Given the description of an element on the screen output the (x, y) to click on. 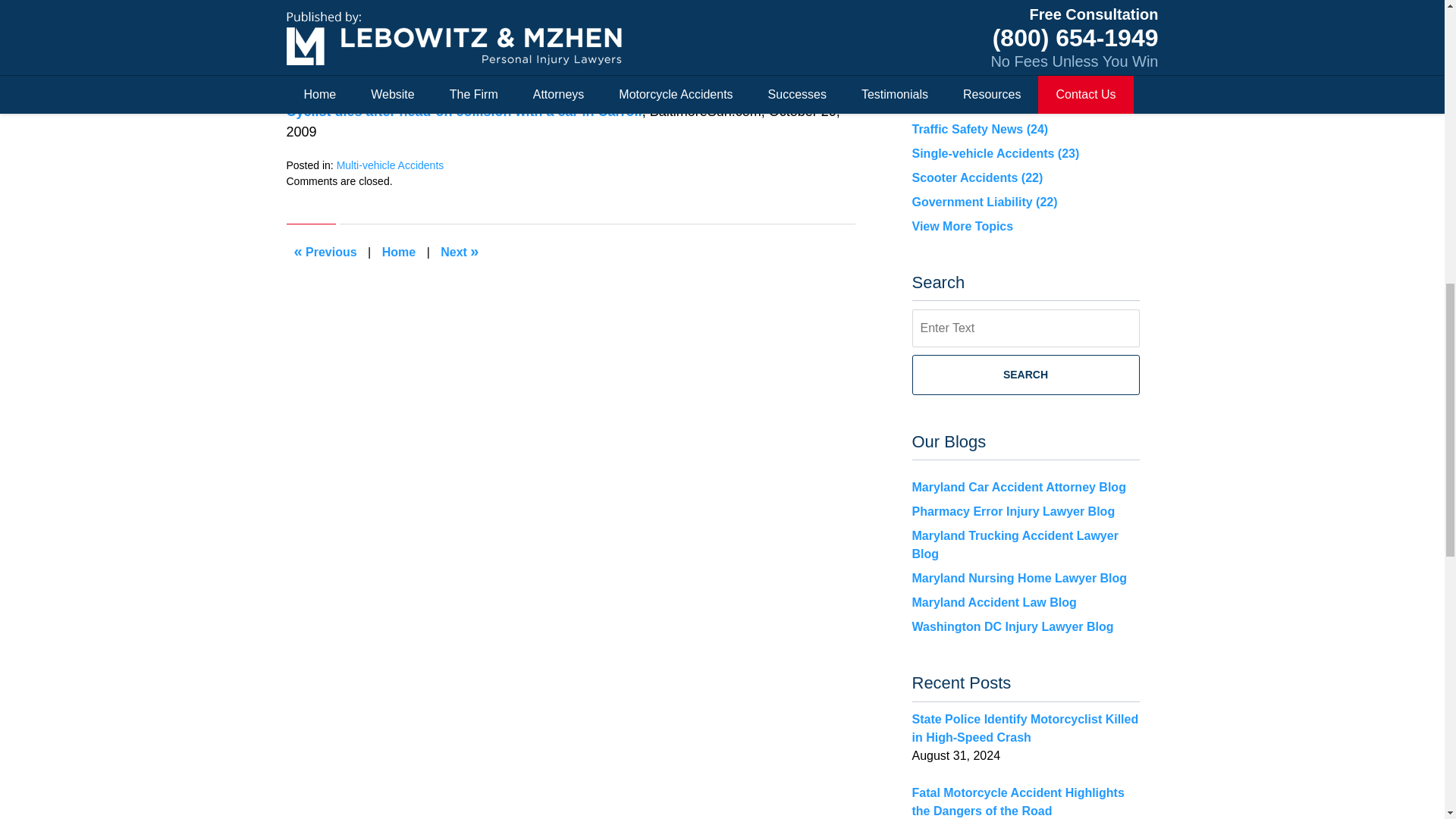
Multi-vehicle Accidents (390, 164)
Home (398, 252)
View all posts in Multi-vehicle Accidents (390, 164)
Cyclist dies after head-on collision with a car in Carroll (464, 111)
